Given the description of an element on the screen output the (x, y) to click on. 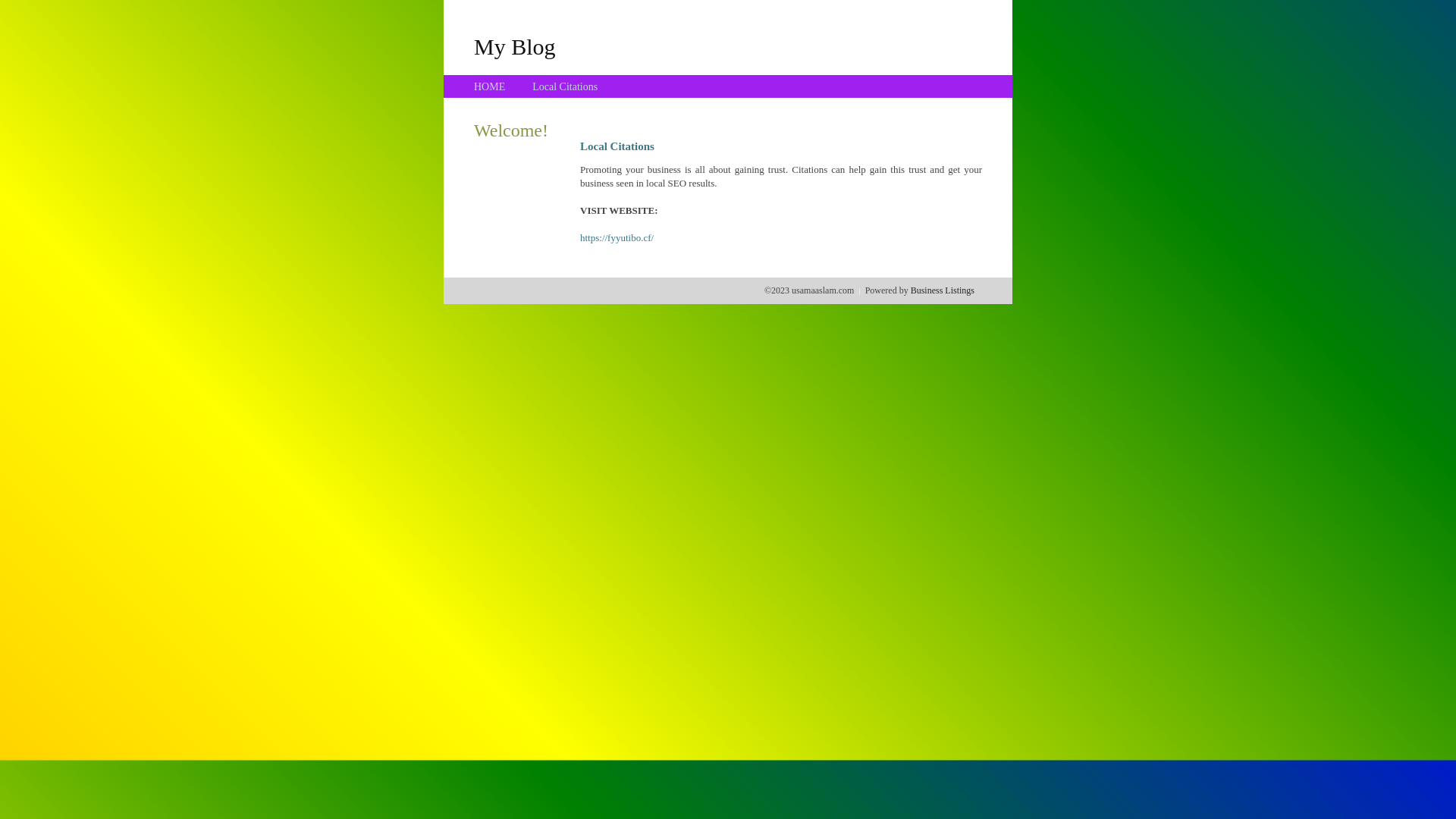
https://fyyutibo.cf/ Element type: text (616, 237)
Business Listings Element type: text (942, 290)
Local Citations Element type: text (564, 86)
My Blog Element type: text (514, 46)
HOME Element type: text (489, 86)
